Given the description of an element on the screen output the (x, y) to click on. 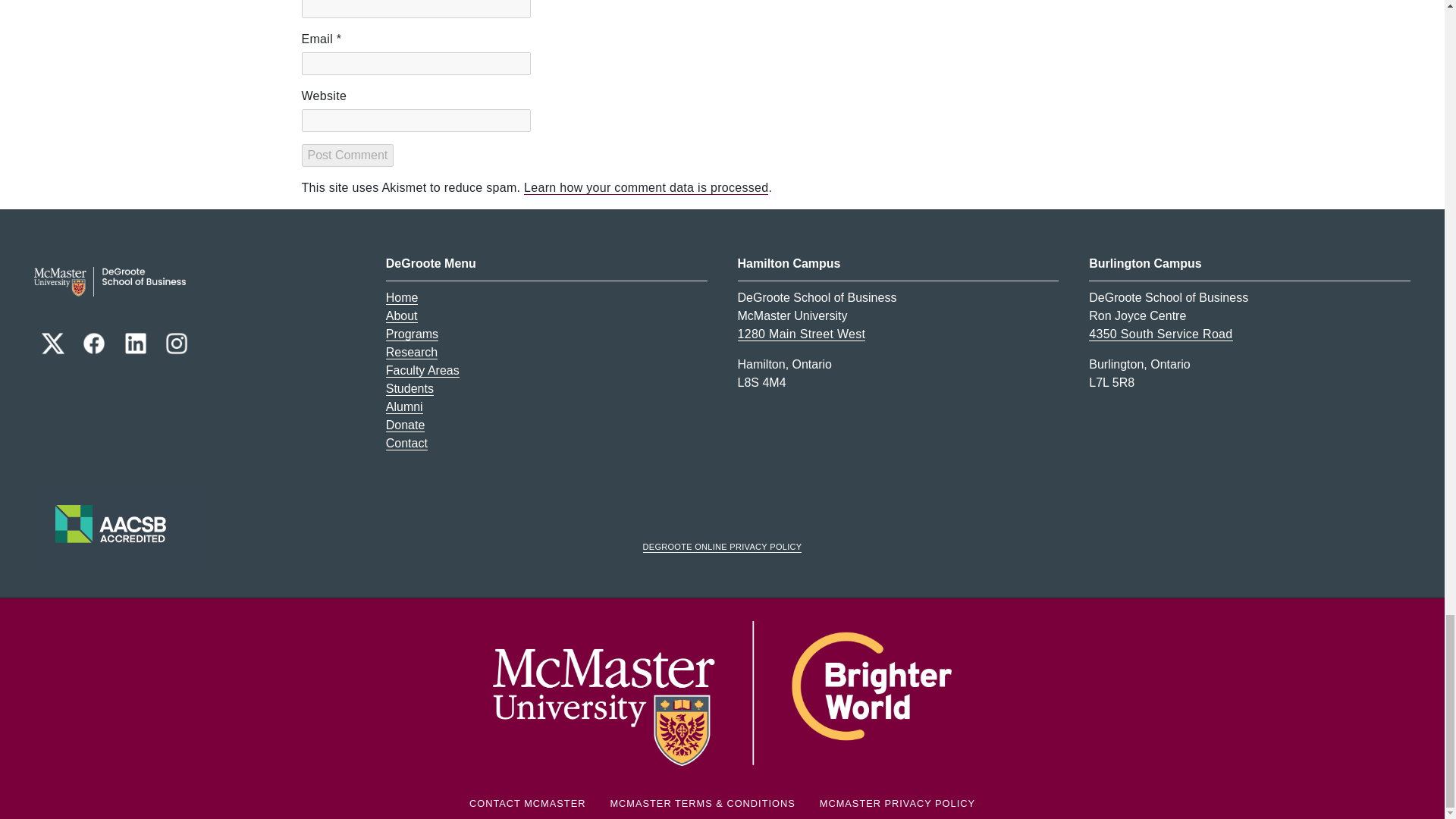
Post Comment (347, 155)
Google Map for the Ron Joyce Centre (1160, 334)
